Given the description of an element on the screen output the (x, y) to click on. 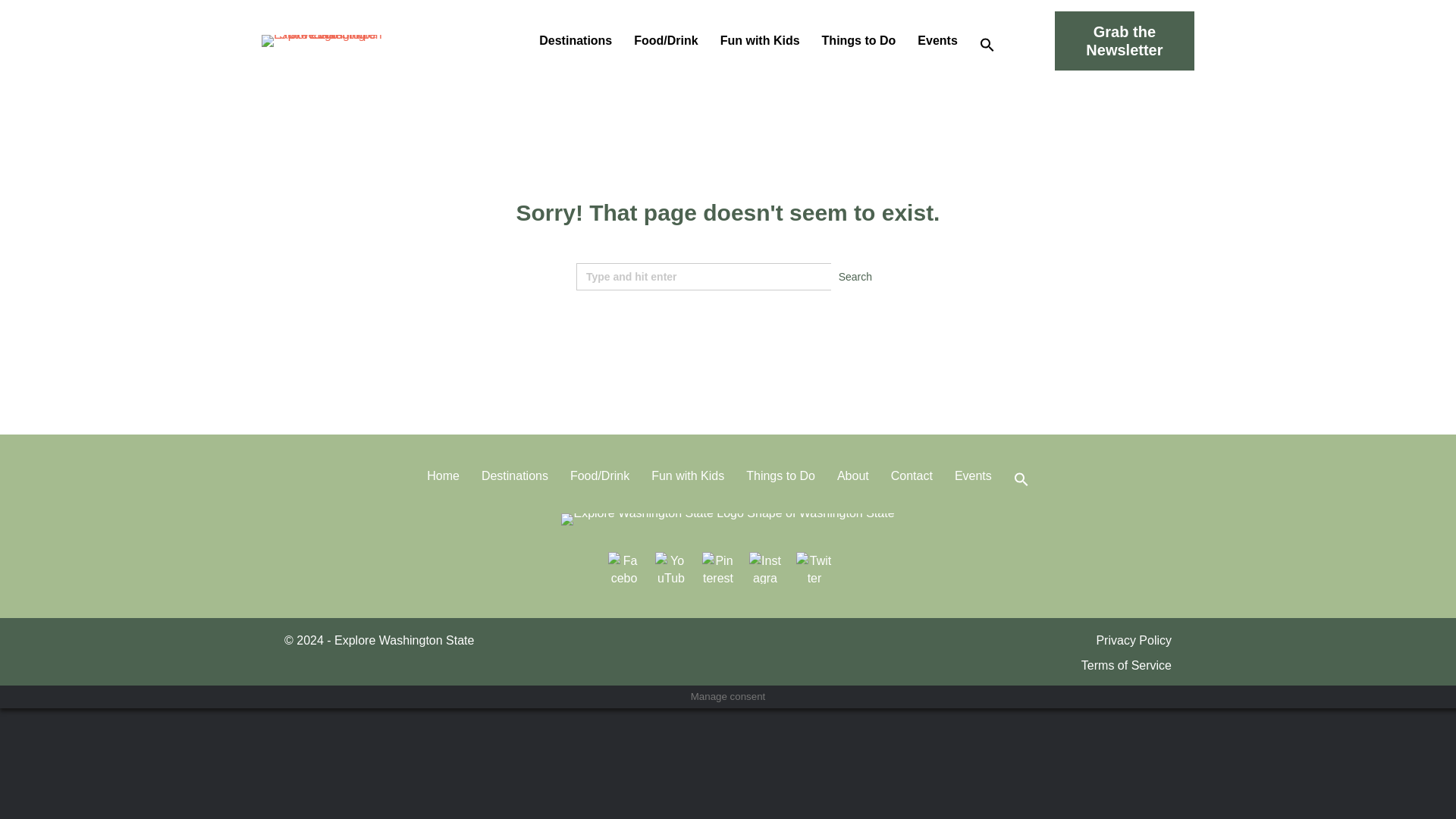
Things to Do (858, 40)
Search (855, 276)
Contact (911, 476)
Destinations (514, 476)
About (853, 476)
EWSLogoSmall (726, 519)
Search (855, 276)
Things to Do (780, 476)
Search (855, 276)
Events (937, 40)
